Given the description of an element on the screen output the (x, y) to click on. 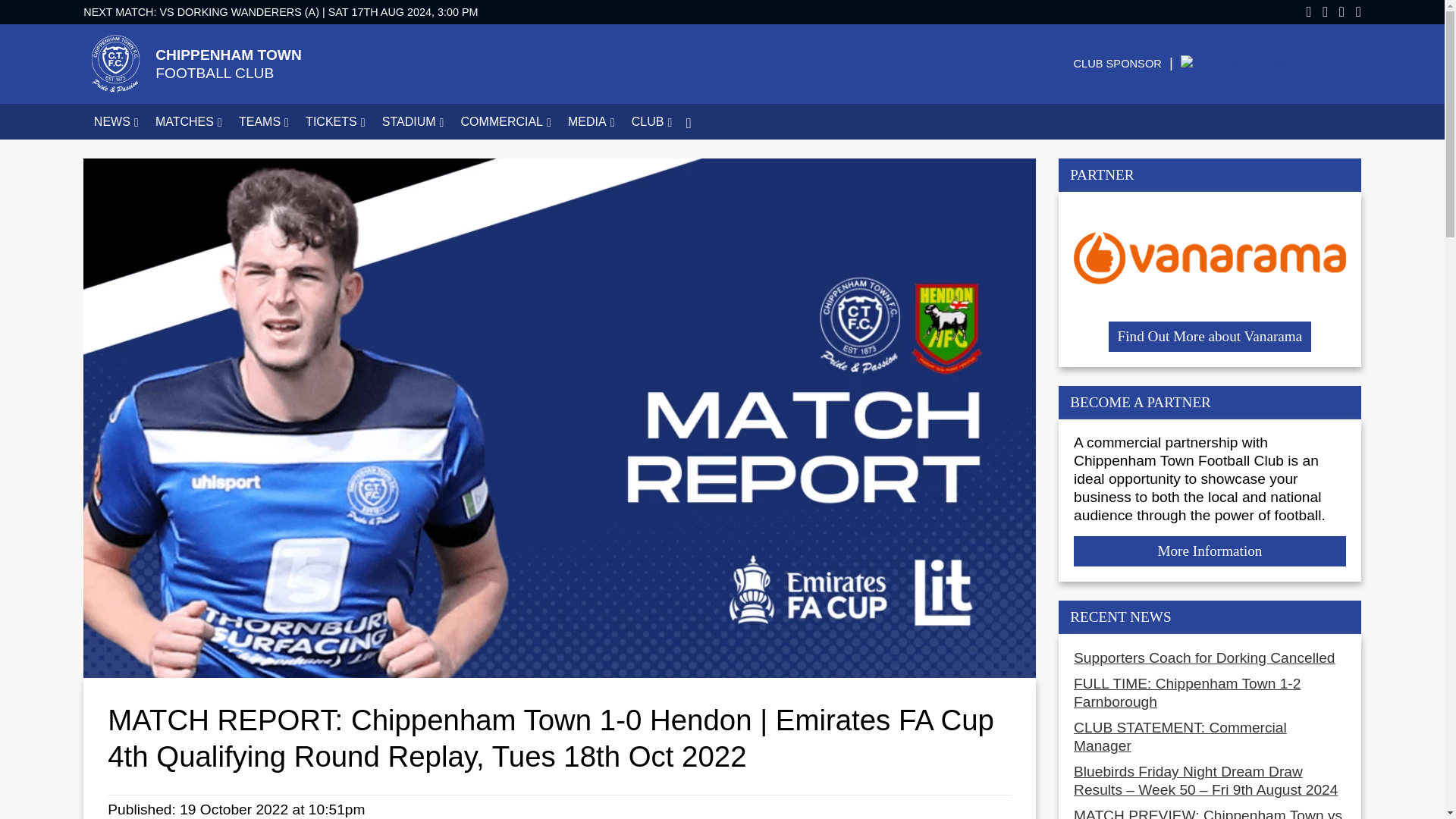
Chippenham Town Official Facebook Page (1302, 12)
STADIUM (410, 121)
Chippenham Town Official Twitter Account (1319, 12)
Thornbury Surfacing (1270, 63)
NEWS (113, 121)
MEDIA (589, 121)
COMMERCIAL (503, 121)
MATCHES (186, 121)
TICKETS (333, 121)
Official Chippenham Town Instagram Account (1352, 12)
